Given the description of an element on the screen output the (x, y) to click on. 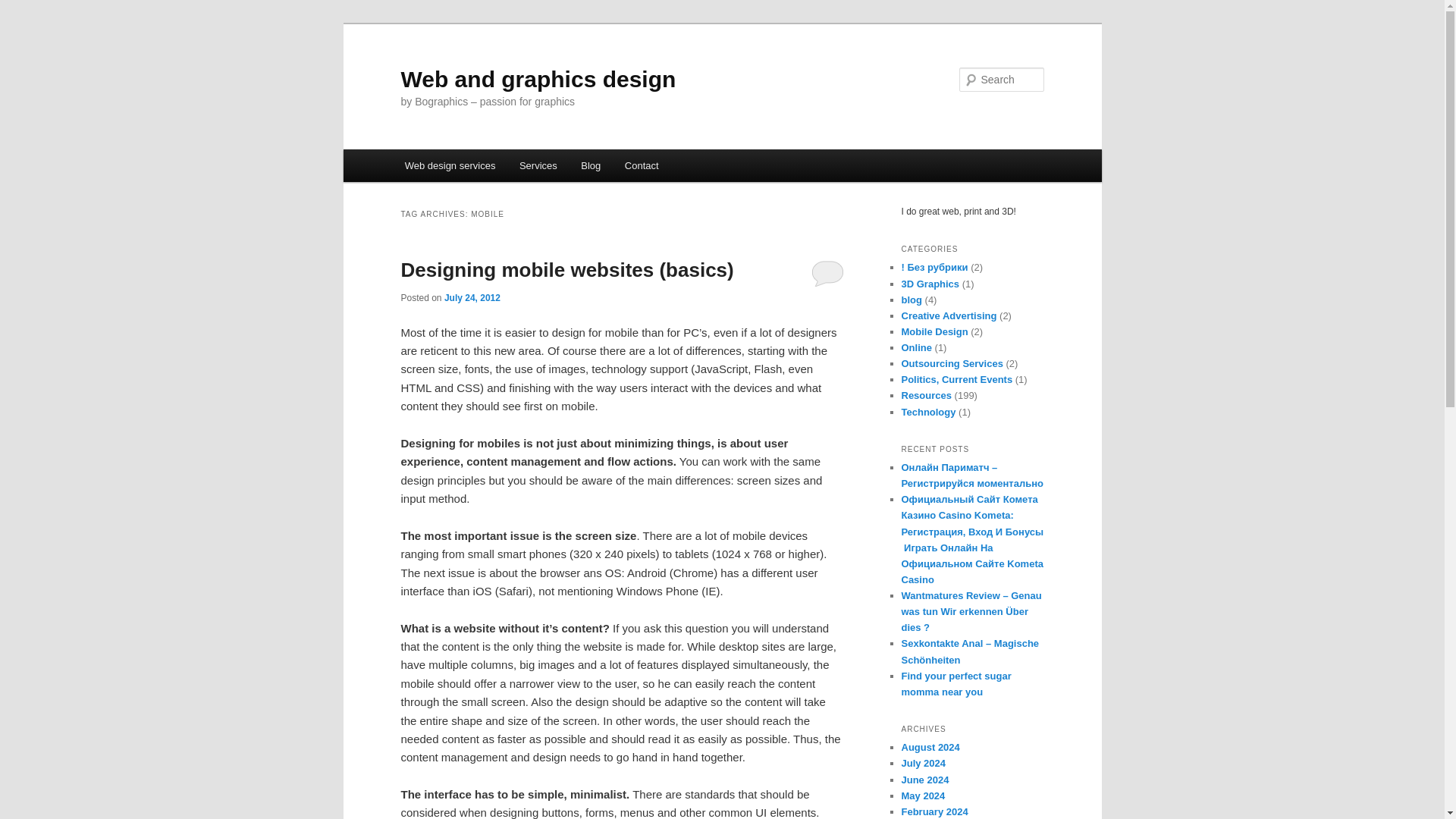
Skip to secondary content (479, 168)
Outsourcing Services (952, 363)
Resources (925, 395)
Mobile Design (934, 331)
4:01 pm (472, 297)
Online (916, 347)
3D Graphics (930, 283)
Skip to secondary content (479, 168)
Creative Advertising (948, 315)
Services (537, 165)
